Given the description of an element on the screen output the (x, y) to click on. 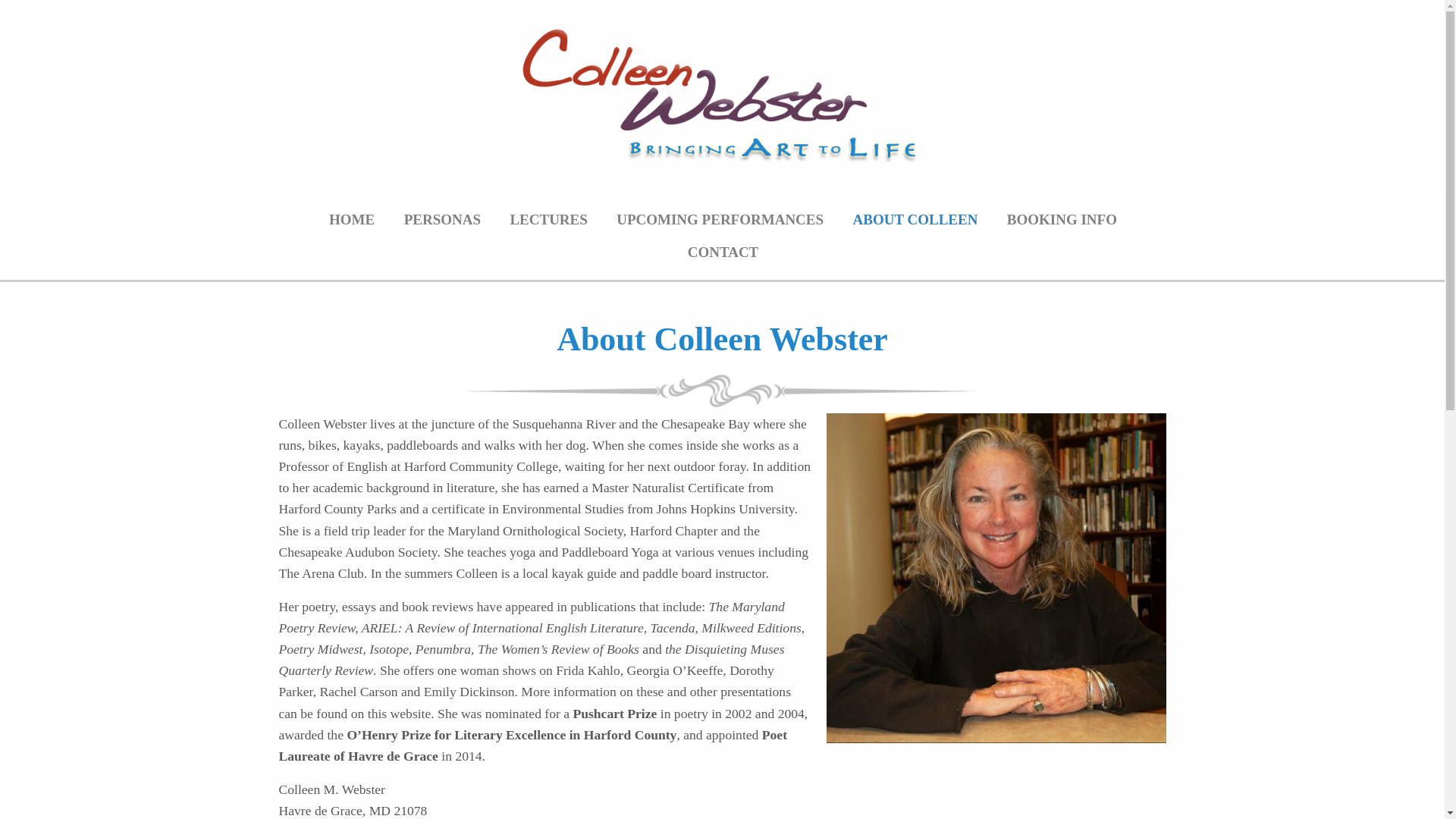
PERSONAS (442, 219)
ABOUT COLLEEN (915, 219)
LECTURES (547, 219)
UPCOMING PERFORMANCES (719, 219)
BOOKING INFO (1061, 219)
CONTACT (723, 251)
HOME (352, 219)
